Given the description of an element on the screen output the (x, y) to click on. 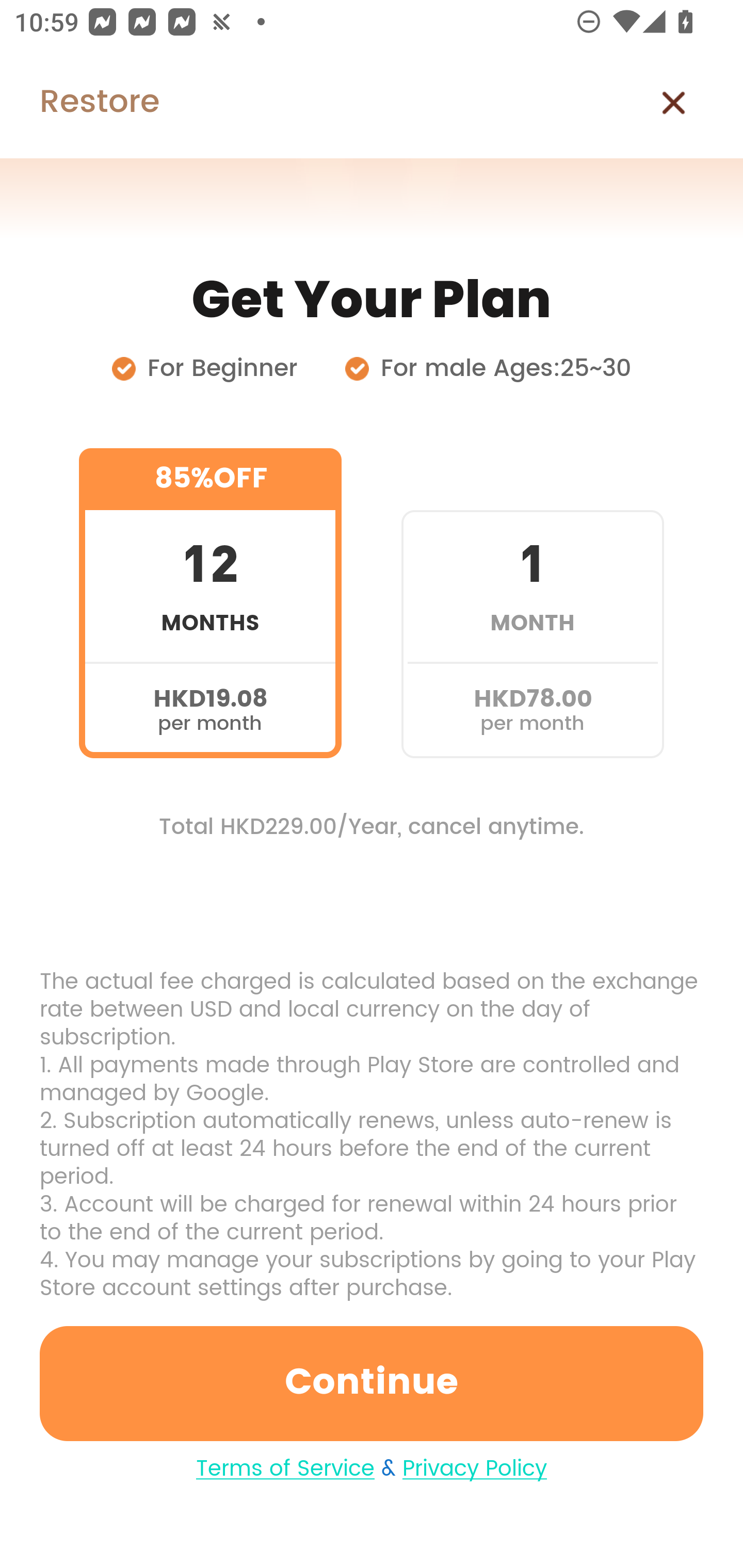
Restore (79, 102)
85%OFF 12 MONTHS per month HKD19.08 (209, 603)
1 MONTH per month HKD78.00 (532, 603)
Continue (371, 1383)
